Given the description of an element on the screen output the (x, y) to click on. 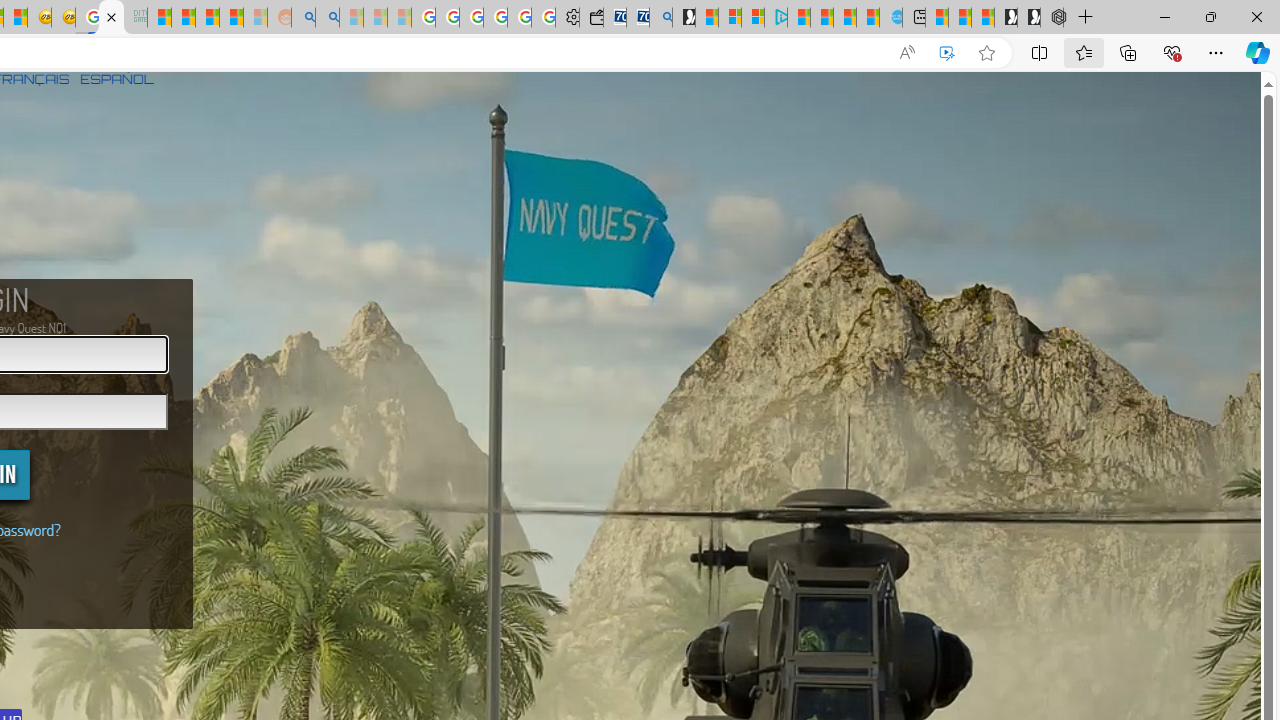
Enhance video (946, 53)
Wallet (590, 17)
